Given the description of an element on the screen output the (x, y) to click on. 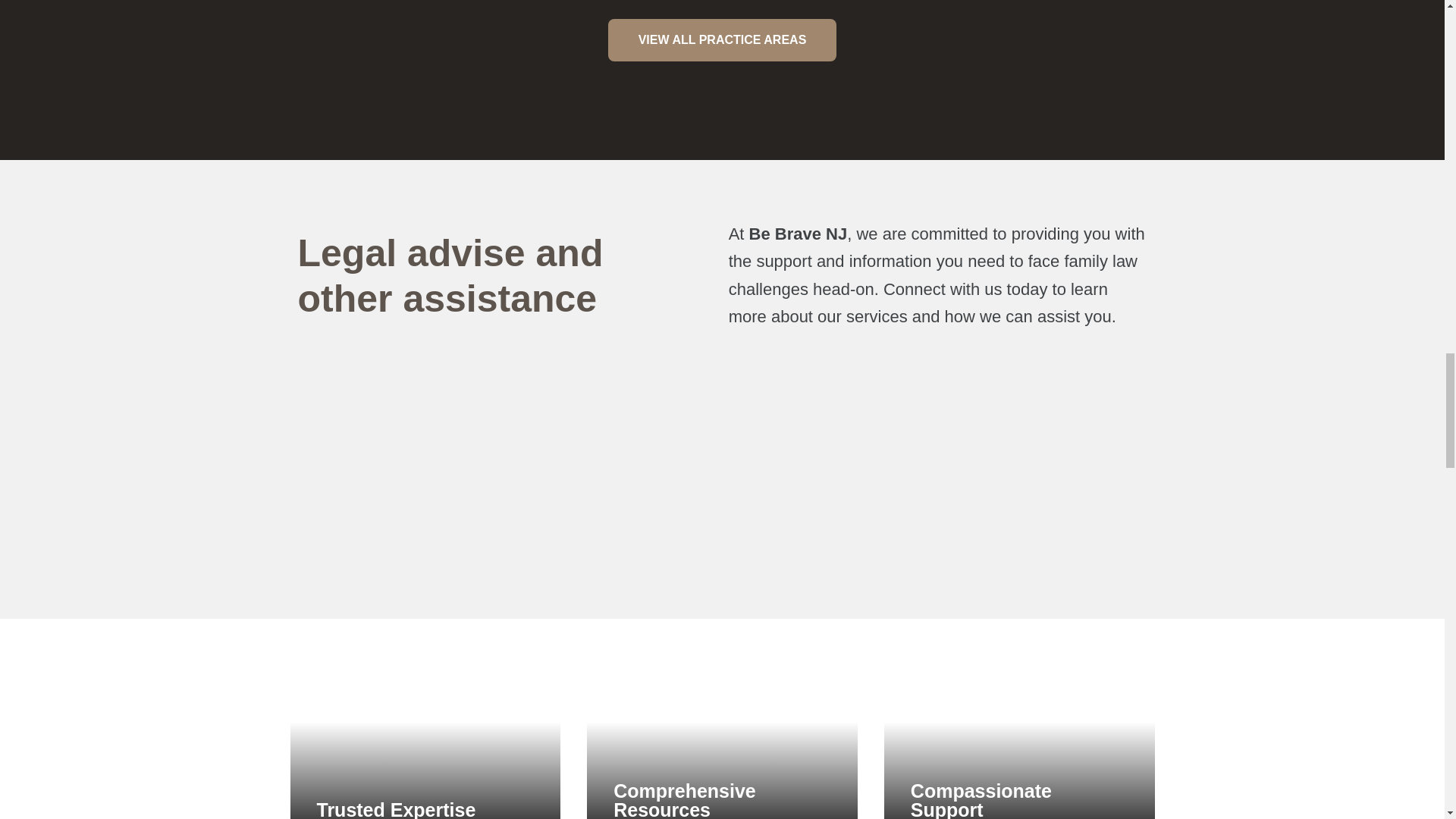
VIEW ALL PRACTICE AREAS (722, 39)
